Given the description of an element on the screen output the (x, y) to click on. 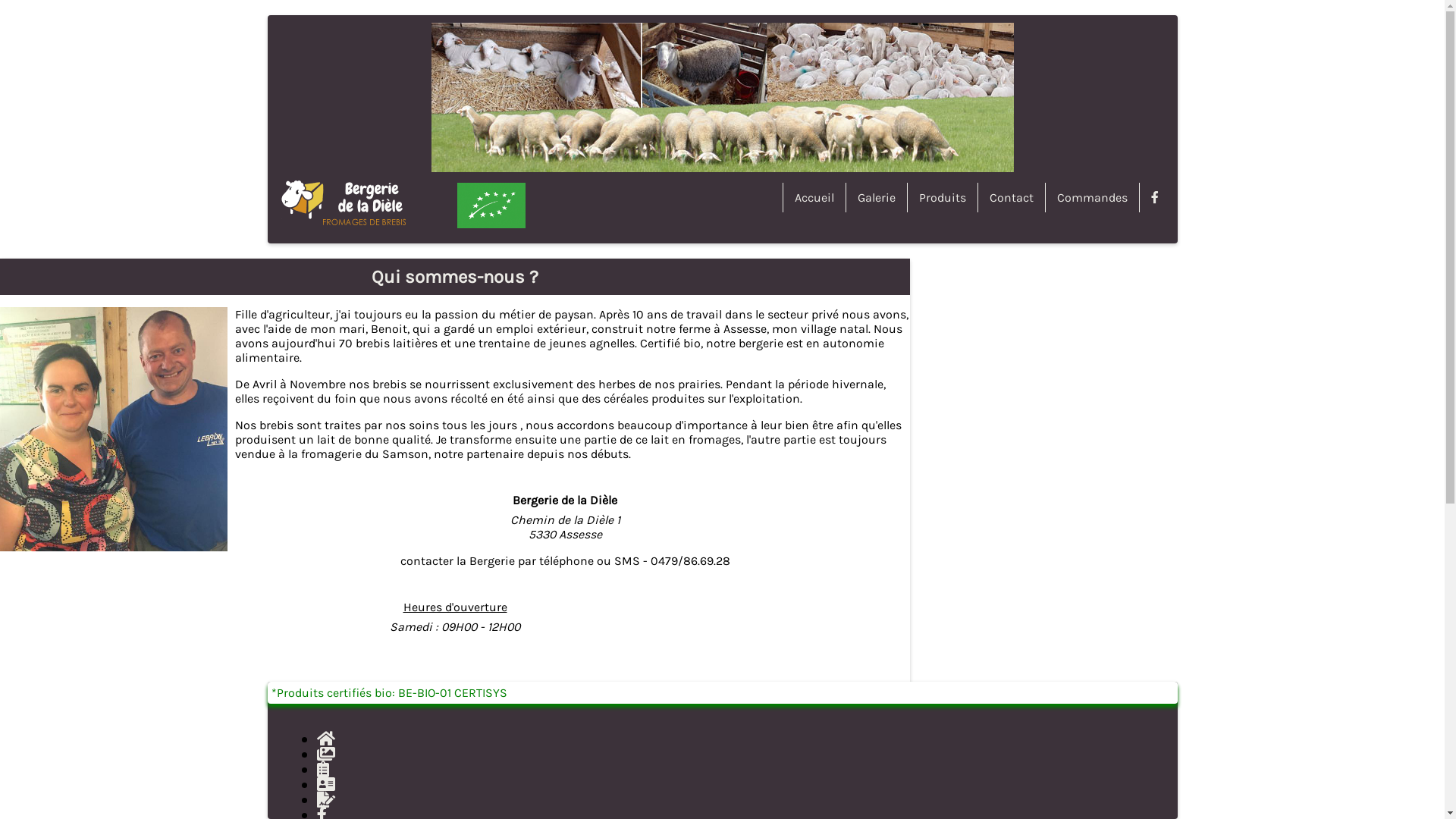
Produits Element type: text (941, 197)
Galerie Element type: text (875, 197)
Commandes Element type: text (1091, 197)
Accueil Element type: text (813, 197)
Contact Element type: text (1010, 197)
